Given the description of an element on the screen output the (x, y) to click on. 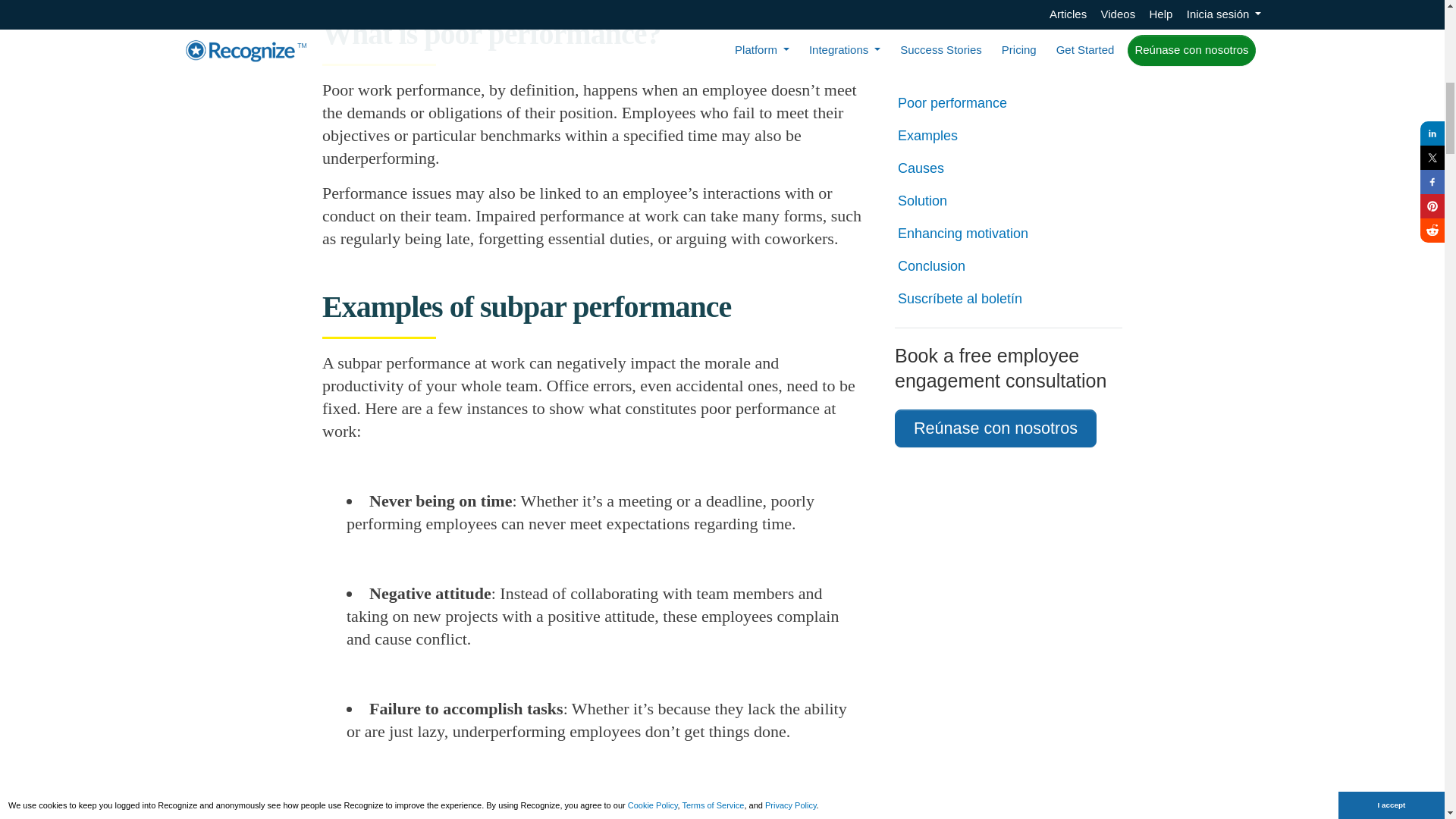
Conclusion (1008, 190)
Causes (1008, 92)
Examples (1008, 59)
Solution (1008, 125)
Enhancing motivation (1008, 157)
Poor performance (1008, 27)
